Given the description of an element on the screen output the (x, y) to click on. 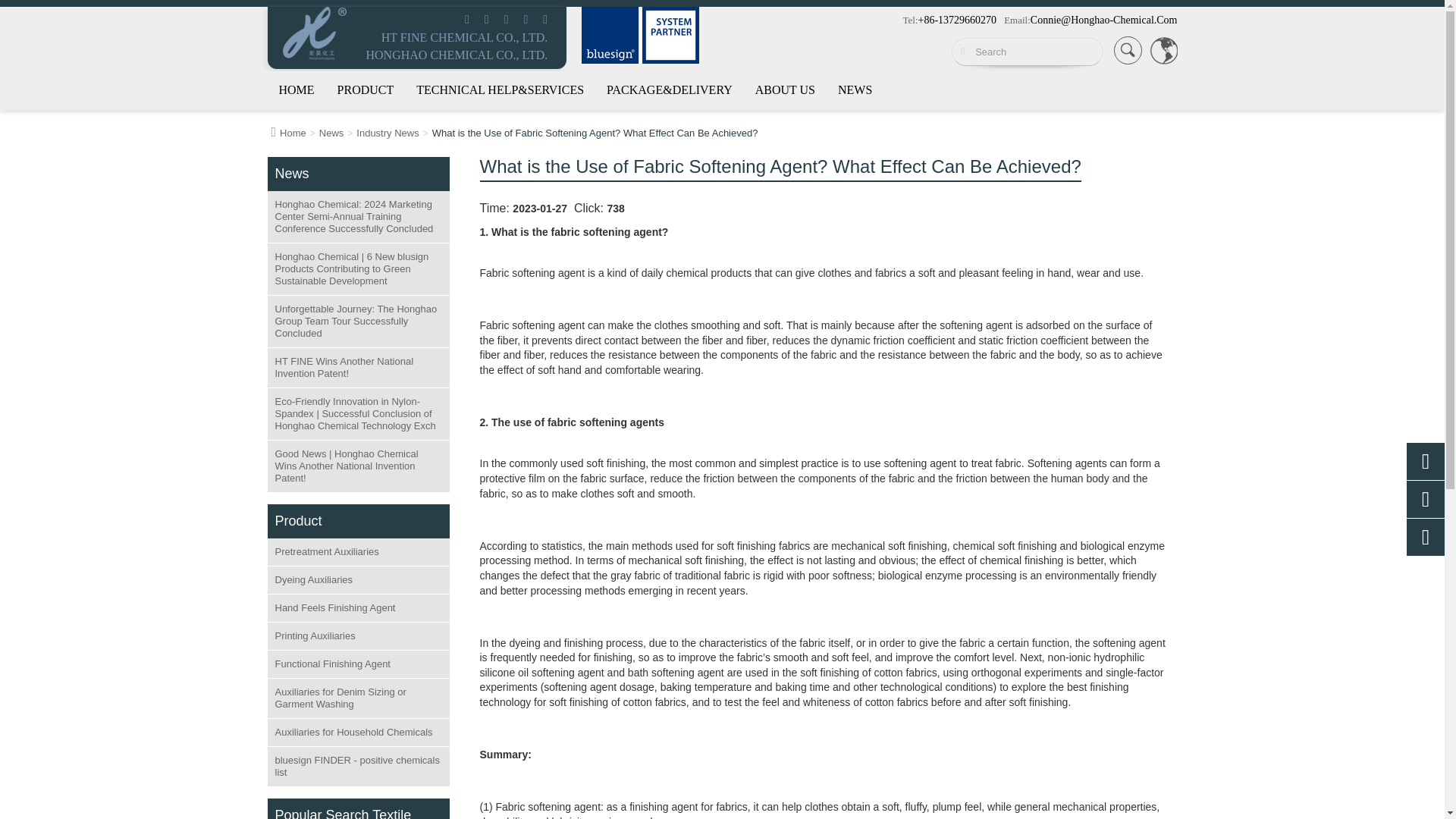
PRODUCT (365, 90)
ABOUT US (784, 90)
HOME (296, 90)
